Given the description of an element on the screen output the (x, y) to click on. 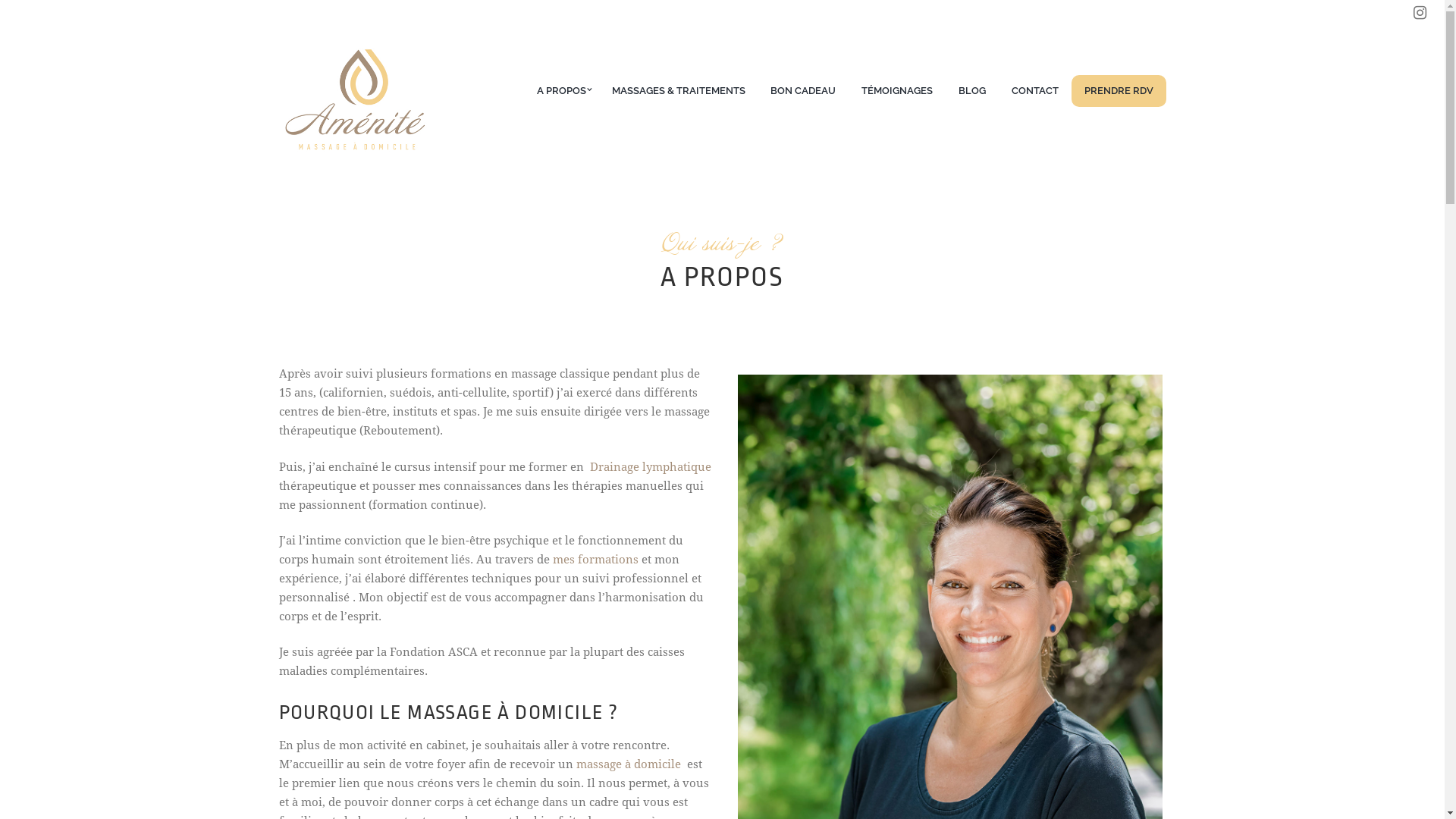
mes formations Element type: text (594, 559)
CONTACT Element type: text (1034, 90)
BON CADEAU Element type: text (803, 90)
Drainage lymphatique Element type: text (650, 466)
BLOG Element type: text (971, 90)
MASSAGES & TRAITEMENTS Element type: text (678, 90)
A PROPOS Element type: text (561, 90)
PRENDRE RDV Element type: text (1118, 90)
